Given the description of an element on the screen output the (x, y) to click on. 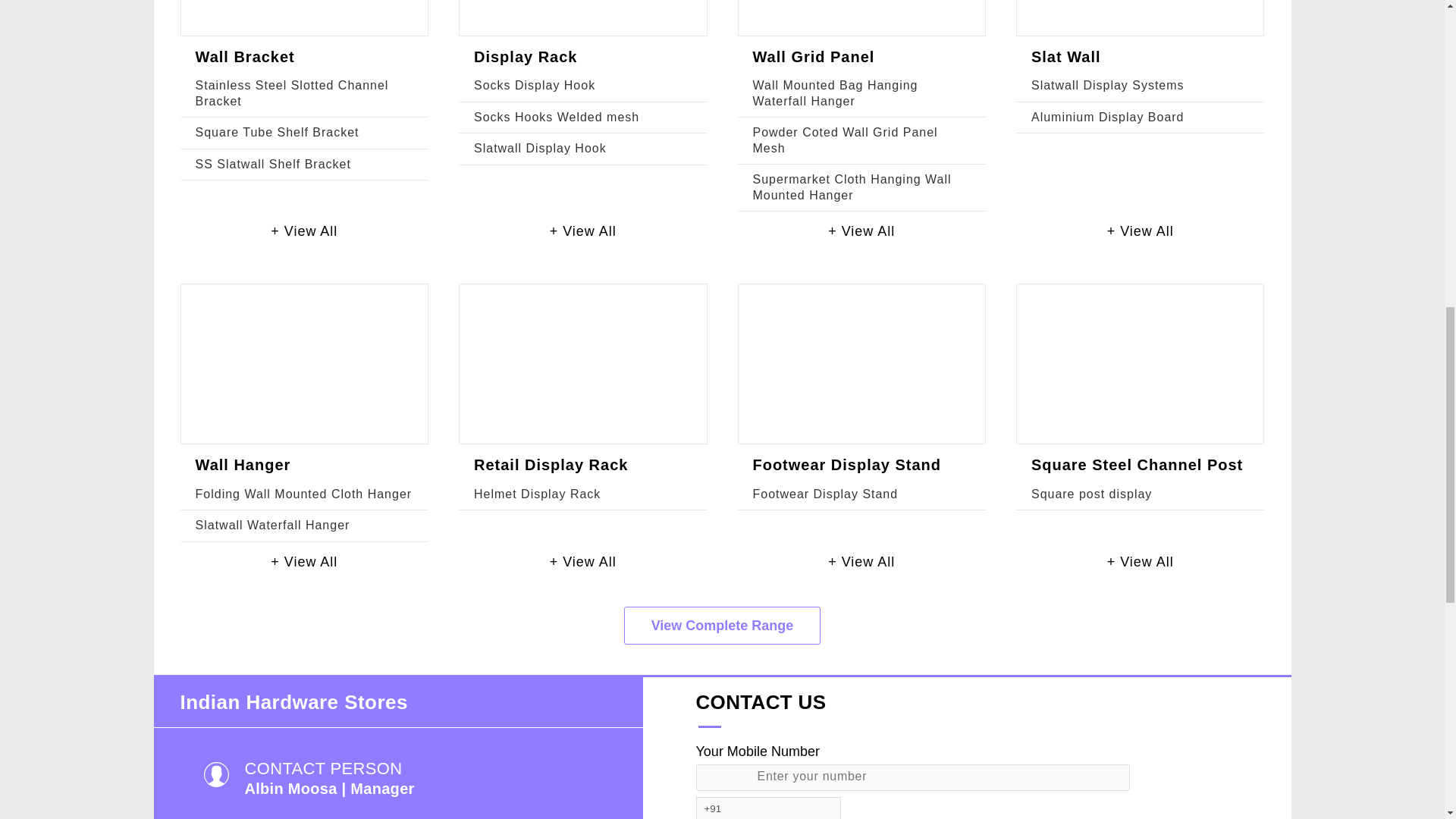
Display Rack (525, 56)
Slatwall Display Hook (540, 147)
Supermarket Cloth Hanging Wall Mounted Hanger (851, 186)
SS Slatwall Shelf Bracket (272, 164)
Wall Mounted Bag Hanging Waterfall Hanger (834, 92)
Wall Bracket (245, 56)
Powder Coted Wall Grid Panel Mesh (844, 139)
Square Tube Shelf Bracket (277, 132)
Wall Grid Panel (813, 56)
Socks Hooks Welded mesh (556, 116)
Socks Display Hook (534, 84)
Stainless Steel Slotted Channel Bracket (291, 92)
